Given the description of an element on the screen output the (x, y) to click on. 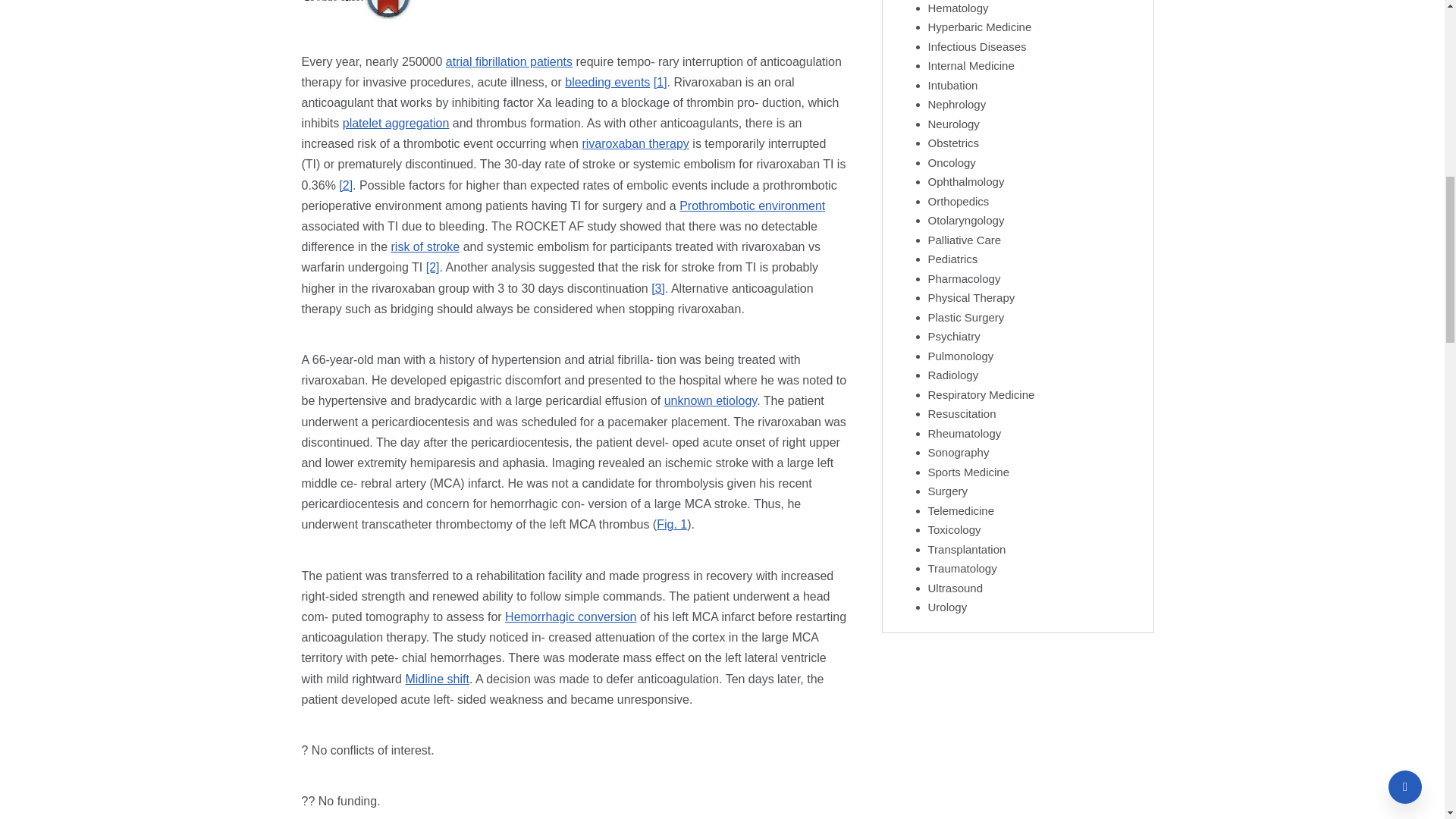
Prothrombotic environment (752, 205)
bleeding events (606, 82)
Hemorrhagic conversion (570, 616)
Fig. 1 (671, 523)
risk of stroke (425, 246)
platelet aggregation (395, 123)
Midline shift (436, 678)
unknown etiology (710, 400)
atrial fibrillation patients (508, 60)
rivaroxaban therapy (634, 143)
